Given the description of an element on the screen output the (x, y) to click on. 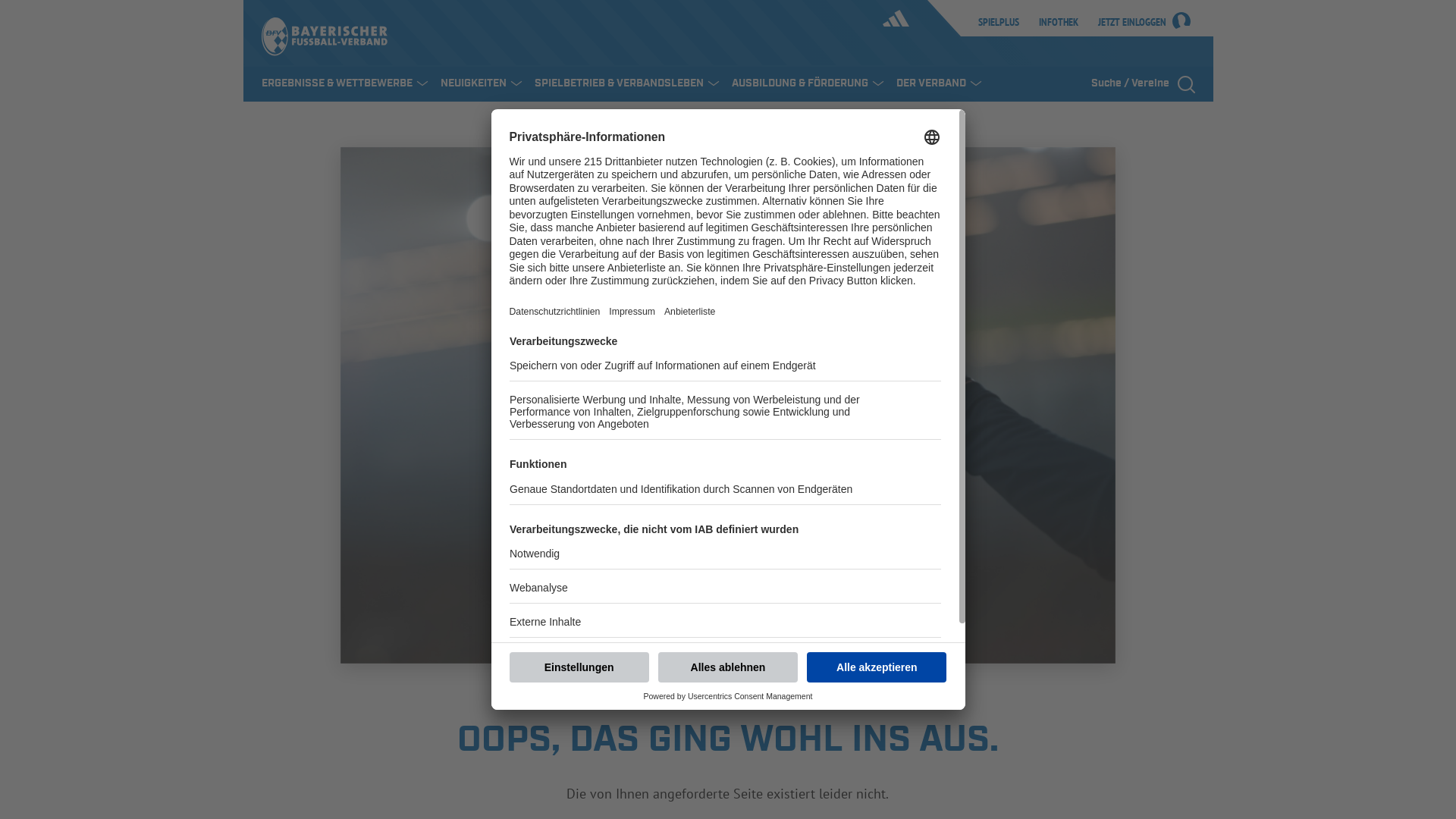
NEUIGKEITEN Element type: text (475, 83)
INFOTHEK Element type: text (1062, 18)
SPIELBETRIEB & VERBANDSLEBEN Element type: text (625, 83)
SPIELPLUS Element type: text (993, 18)
JETZT EINLOGGEN Element type: text (1126, 30)
adidas Element type: hover (883, 18)
DER VERBAND Element type: text (939, 83)
ERGEBNISSE & WETTBEWERBE Element type: text (338, 83)
